Given the description of an element on the screen output the (x, y) to click on. 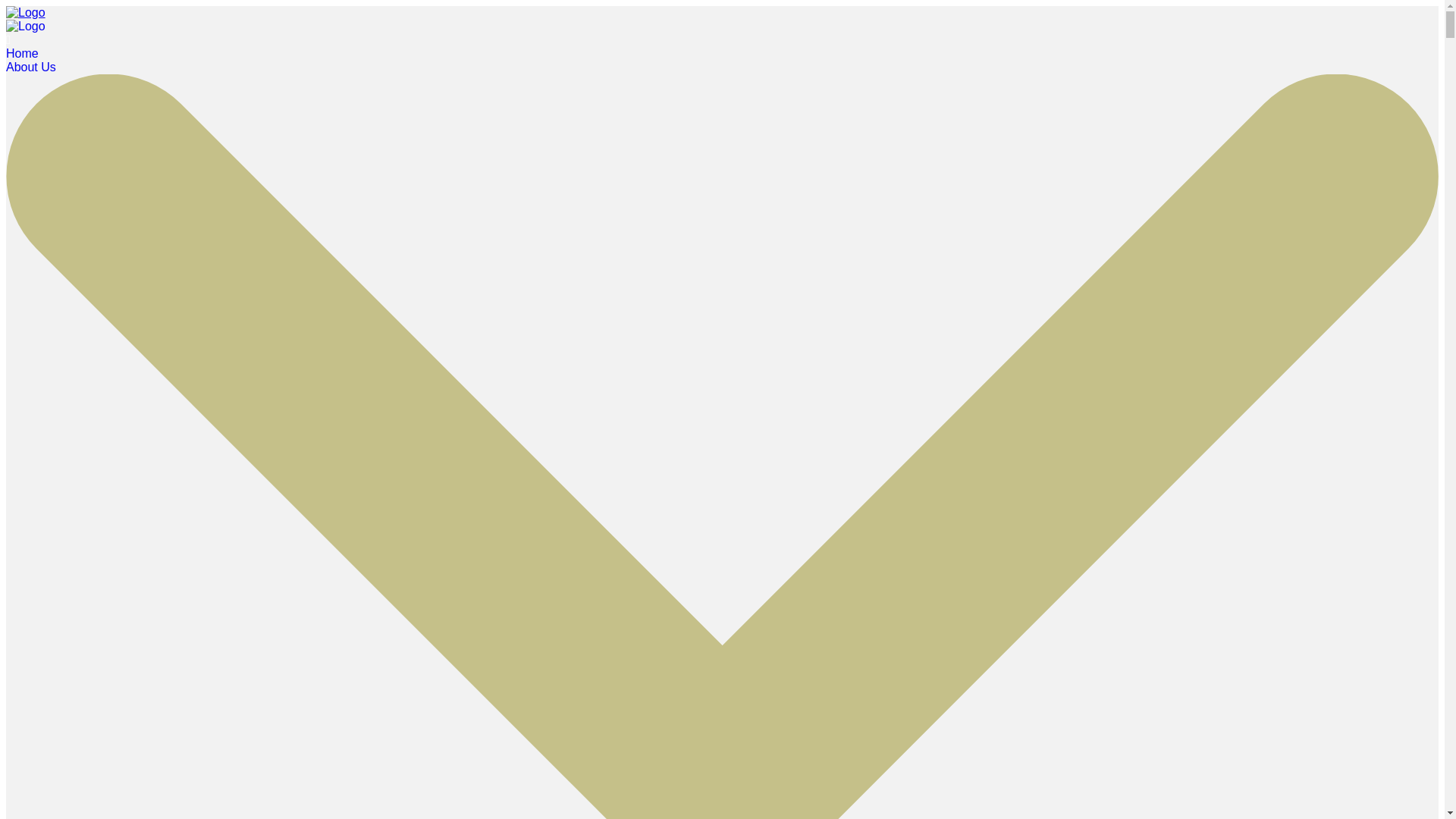
Home (22, 52)
